Given the description of an element on the screen output the (x, y) to click on. 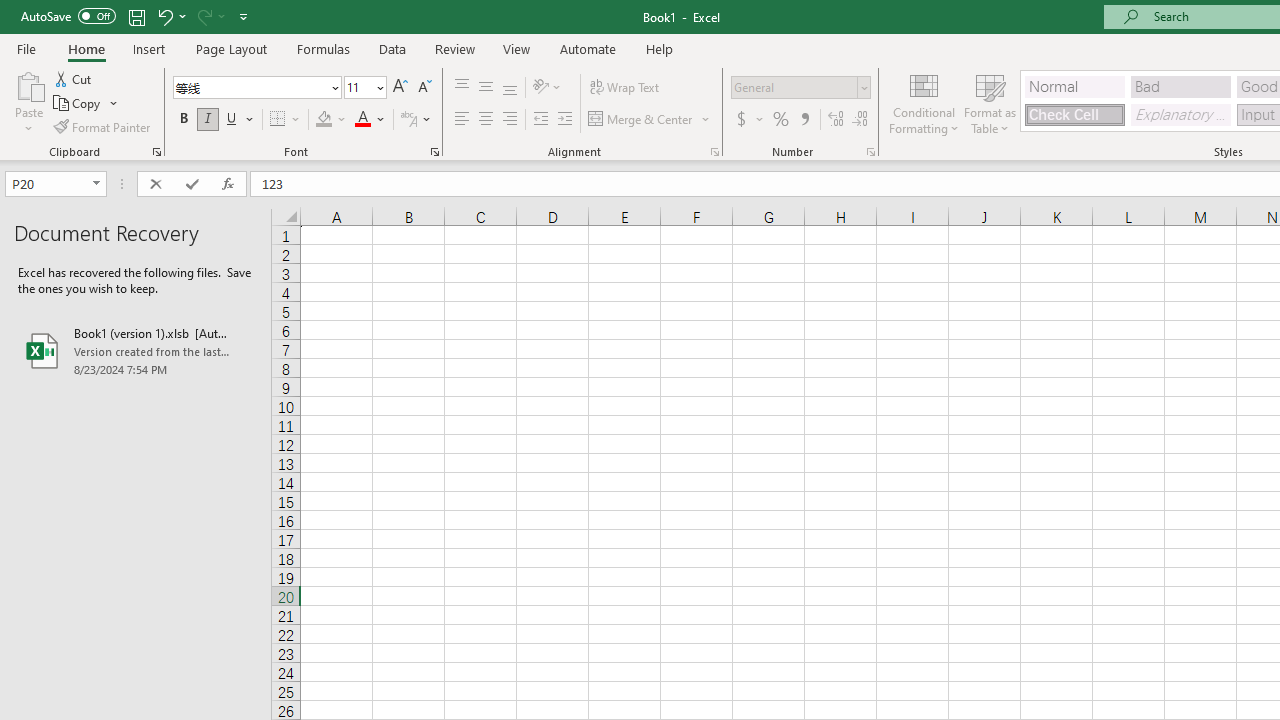
Copy (85, 103)
Accounting Number Format (749, 119)
Font Color (370, 119)
Decrease Font Size (424, 87)
Data (392, 48)
Automate (588, 48)
Underline (239, 119)
Format as Table (990, 102)
Align Right (509, 119)
Number Format (800, 87)
Undo (164, 15)
Review (454, 48)
More Options (760, 119)
Formulas (323, 48)
Customize Quick Access Toolbar (244, 15)
